Given the description of an element on the screen output the (x, y) to click on. 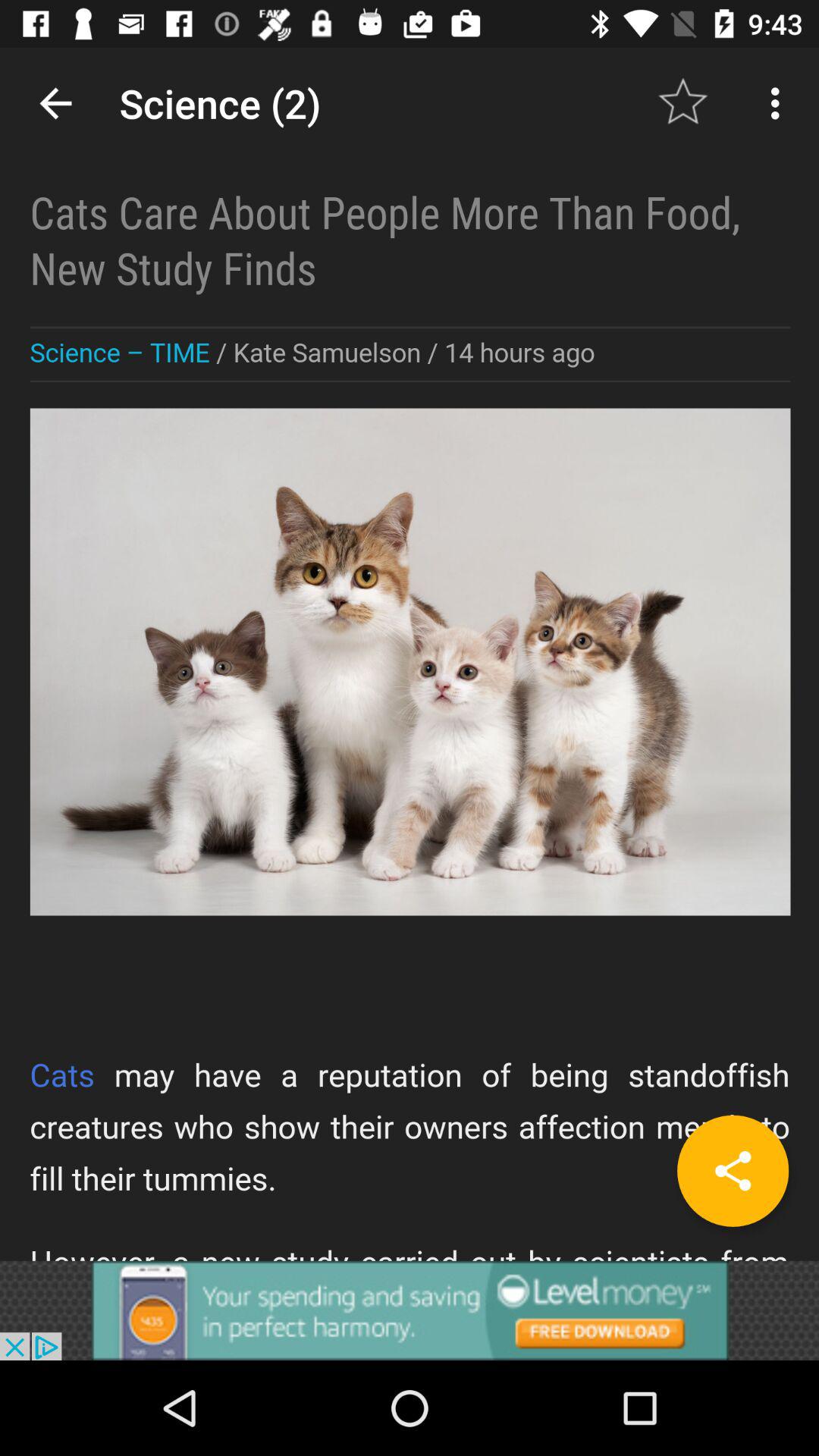
share the article (733, 1171)
